Given the description of an element on the screen output the (x, y) to click on. 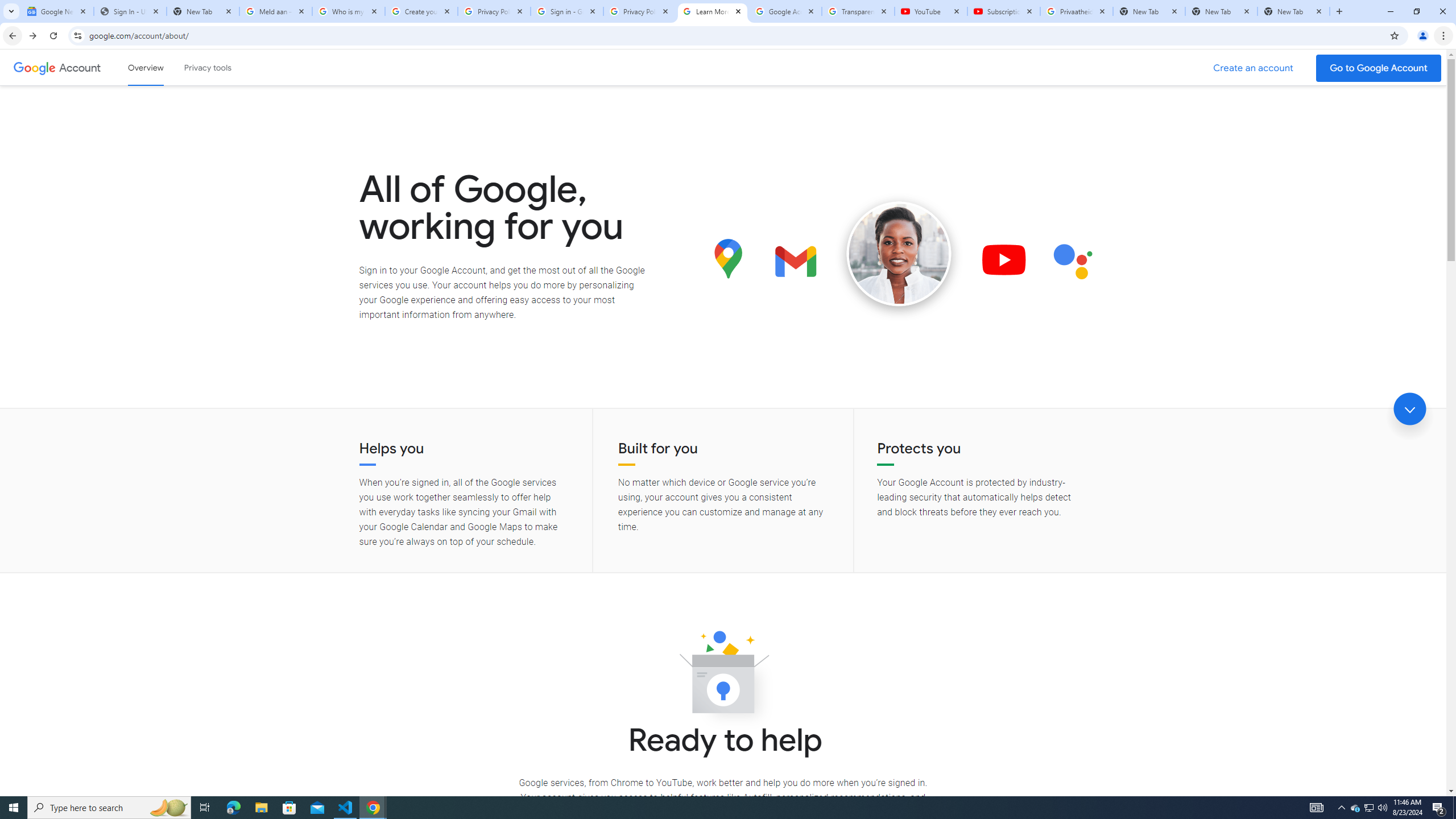
Privacy tools (207, 67)
Skip to Content (162, 65)
Google logo (34, 67)
Create a Google Account (1253, 67)
Sign in - Google Accounts (566, 11)
Google News (57, 11)
Go to your Google Account (1378, 67)
